Given the description of an element on the screen output the (x, y) to click on. 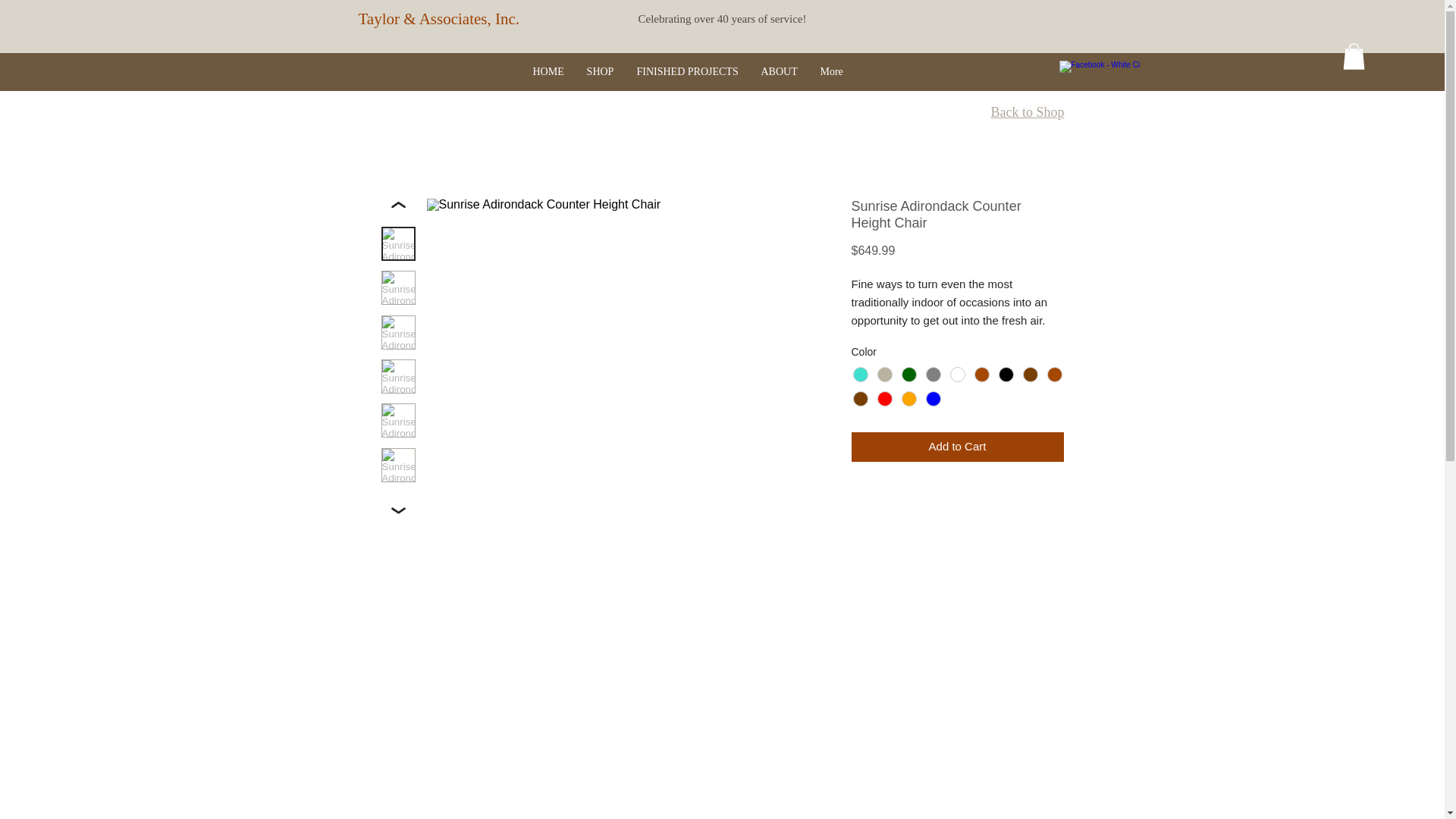
Celebrating over 40 years of service! (722, 19)
ABOUT (778, 71)
HOME (548, 71)
SHOP (599, 71)
FINISHED PROJECTS (686, 71)
